Given the description of an element on the screen output the (x, y) to click on. 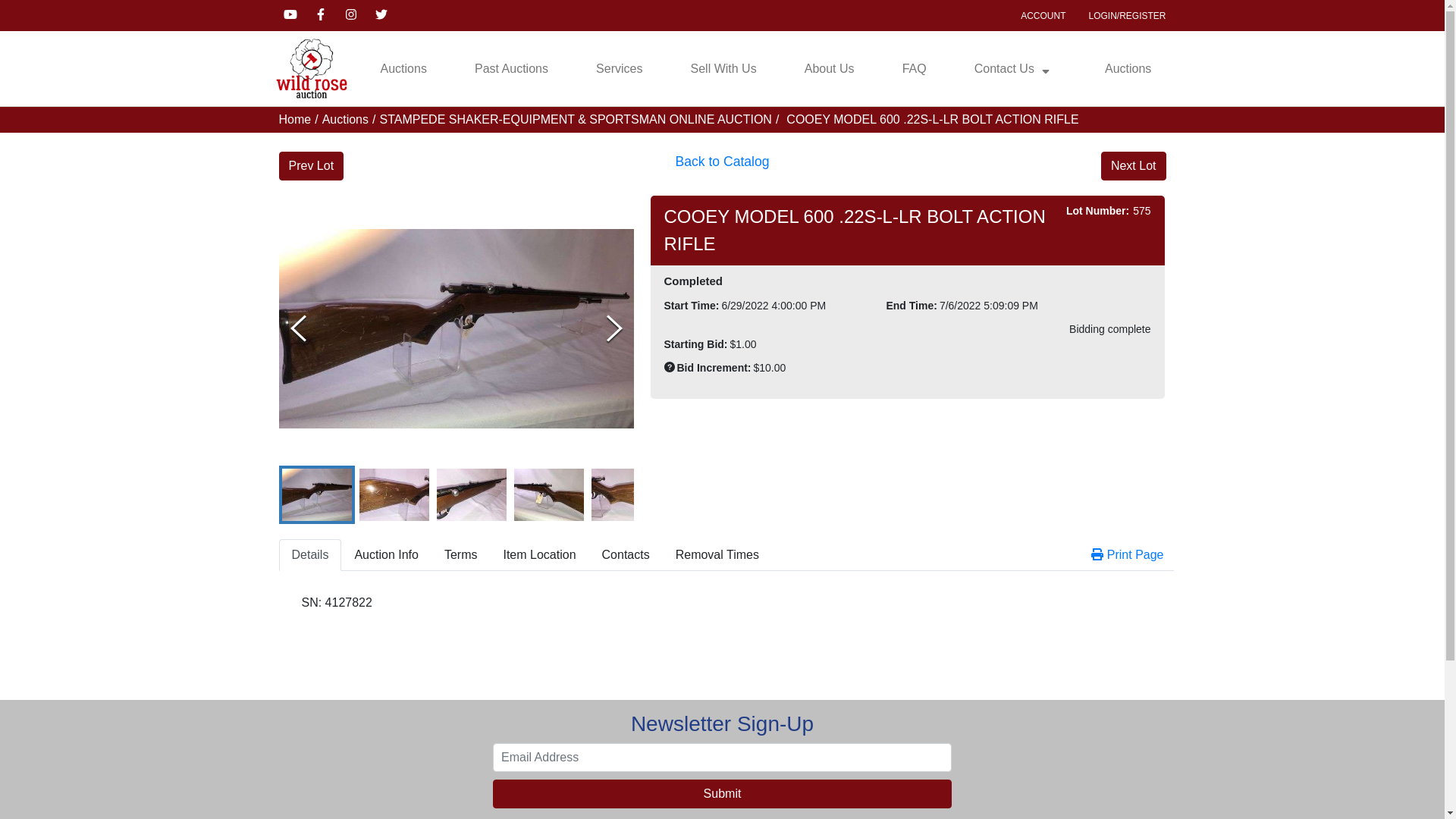
Next Lot Element type: text (1133, 165)
Contact Us Element type: text (1015, 68)
Details Element type: text (310, 555)
Sell With Us Element type: text (723, 68)
Auction Info Element type: text (386, 555)
Item Location Element type: text (538, 555)
STAMPEDE SHAKER-EQUIPMENT & SPORTSMAN ONLINE AUCTION Element type: text (575, 118)
Auctions Element type: text (1127, 68)
About Us Element type: text (829, 68)
FAQ Element type: text (914, 68)
Auctions Element type: text (345, 118)
Removal Times Element type: text (716, 555)
Past Auctions Element type: text (511, 68)
Contacts Element type: text (625, 555)
Terms Element type: text (460, 555)
Services Element type: text (618, 68)
Prev Lot Element type: text (311, 165)
Home Element type: text (295, 118)
Print Page Element type: text (1127, 553)
Go to homepage Element type: hover (310, 67)
Submit Element type: text (721, 793)
Auctions Element type: text (403, 68)
Back to Catalog Element type: text (721, 165)
